Given the description of an element on the screen output the (x, y) to click on. 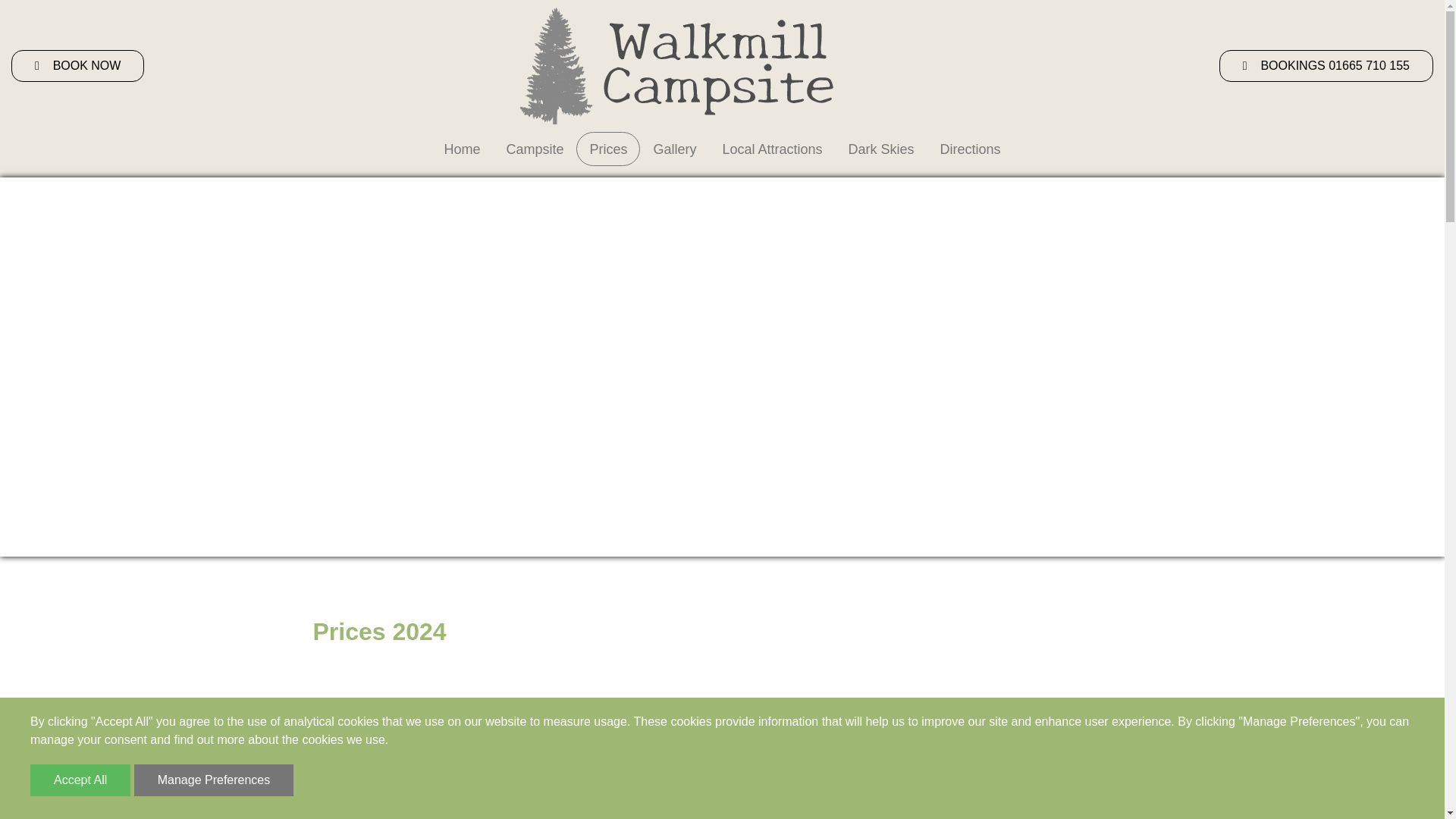
Home (461, 149)
Accept All (80, 780)
Dark Skies (881, 149)
    BOOK NOW (77, 65)
Prices (607, 149)
Directions (971, 149)
Gallery (674, 149)
Manage Preferences (213, 780)
Campsite (533, 149)
Local Attractions (771, 149)
